Given the description of an element on the screen output the (x, y) to click on. 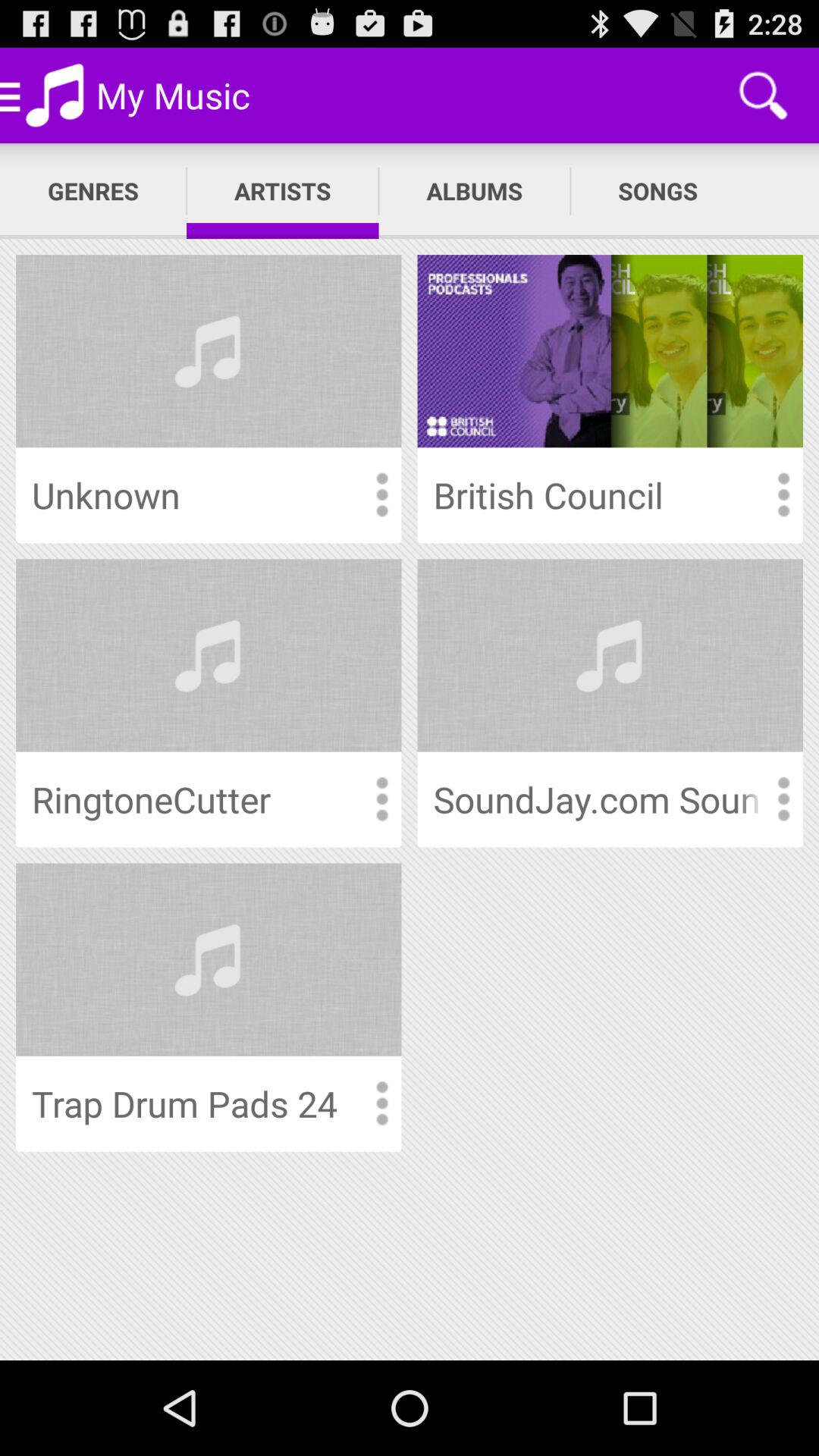
launch the icon next to genres (282, 190)
